Given the description of an element on the screen output the (x, y) to click on. 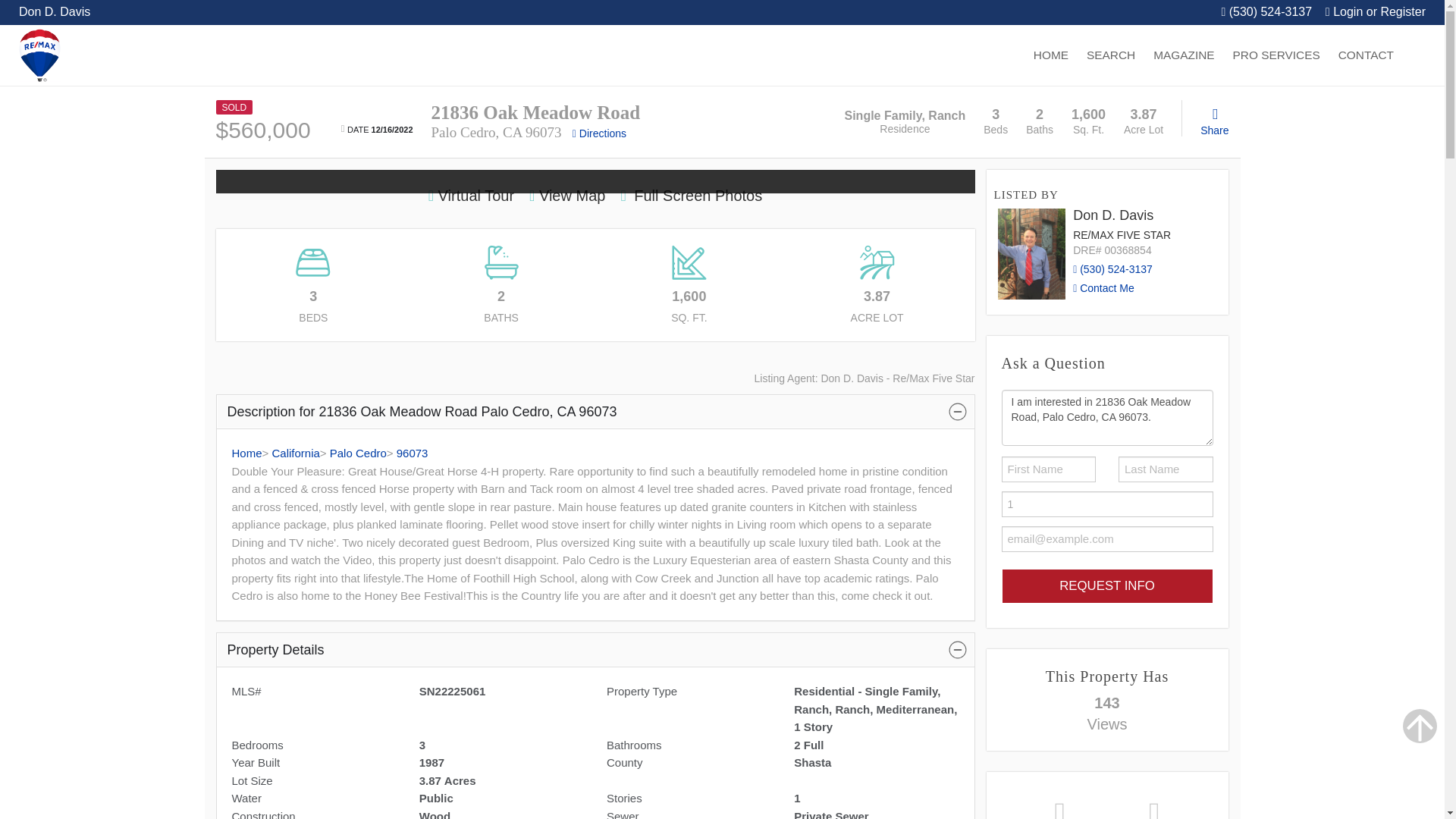
PRO SERVICES (1276, 55)
HOME (1051, 55)
Directions (599, 133)
MAGAZINE (1183, 55)
Click here for Virtual Tour (470, 195)
CONTACT (1366, 55)
Login or Register (1374, 11)
Questions or comments?  Email, call, fax or write us. (1366, 55)
Find the perfect home, schedule showing times and more! (1110, 55)
